Given the description of an element on the screen output the (x, y) to click on. 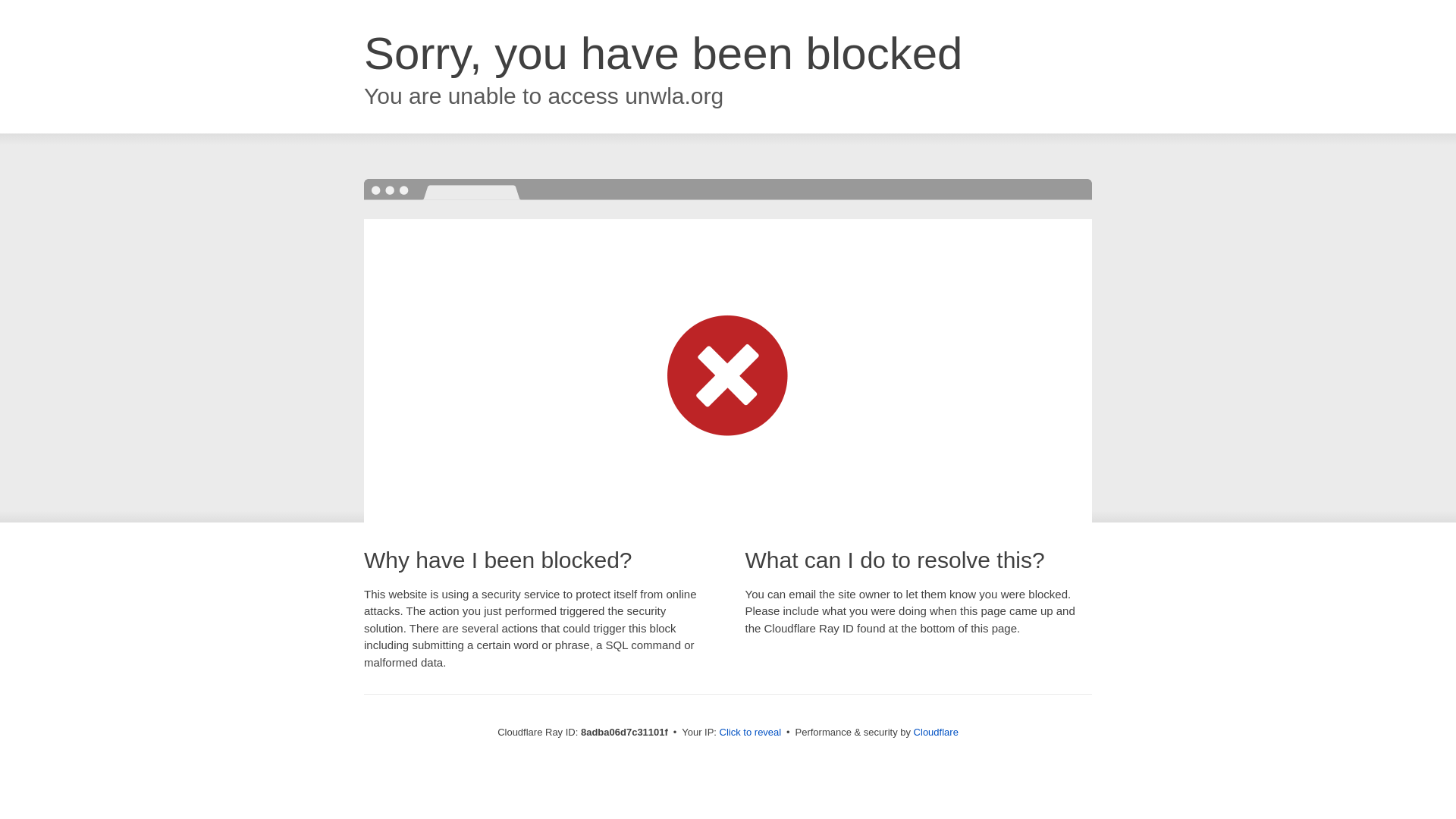
Click to reveal (750, 732)
Cloudflare (936, 731)
